Given the description of an element on the screen output the (x, y) to click on. 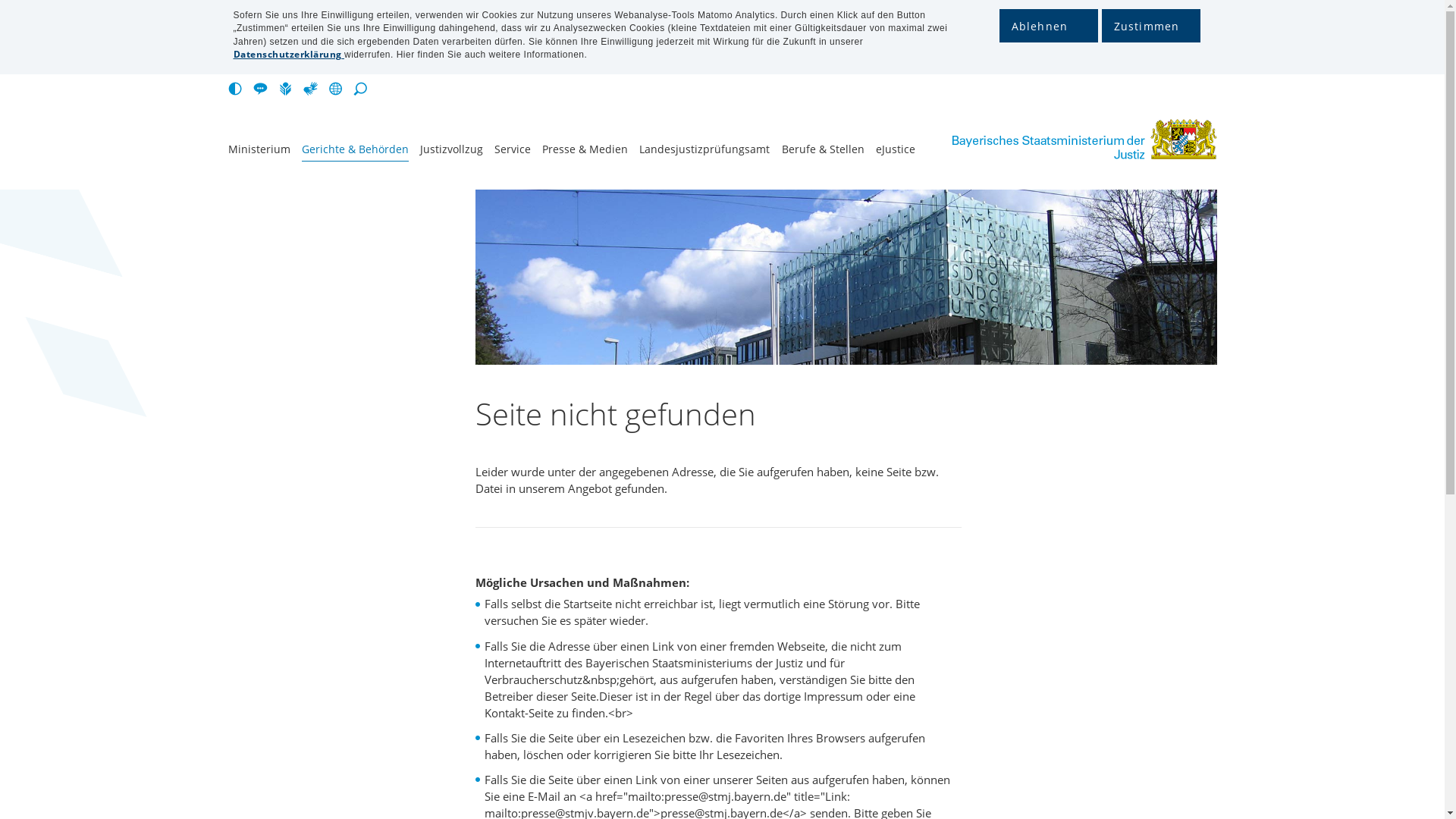
Sprachen Element type: hover (338, 88)
Ablehnen Element type: text (1048, 25)
Leichte Sprache Element type: hover (288, 88)
eJustice Element type: text (895, 152)
Fehler 404 - Bayerisches Staatsministerium der Justiz Element type: hover (1062, 138)
Berufe & Stellen Element type: text (822, 152)
Seite vorlesen lassen [Alt-L] Element type: hover (264, 88)
Presse & Medien Element type: text (584, 152)
Zustimmen Element type: text (1150, 25)
Service Element type: text (512, 152)
Ministerium Element type: text (258, 152)
